Given the description of an element on the screen output the (x, y) to click on. 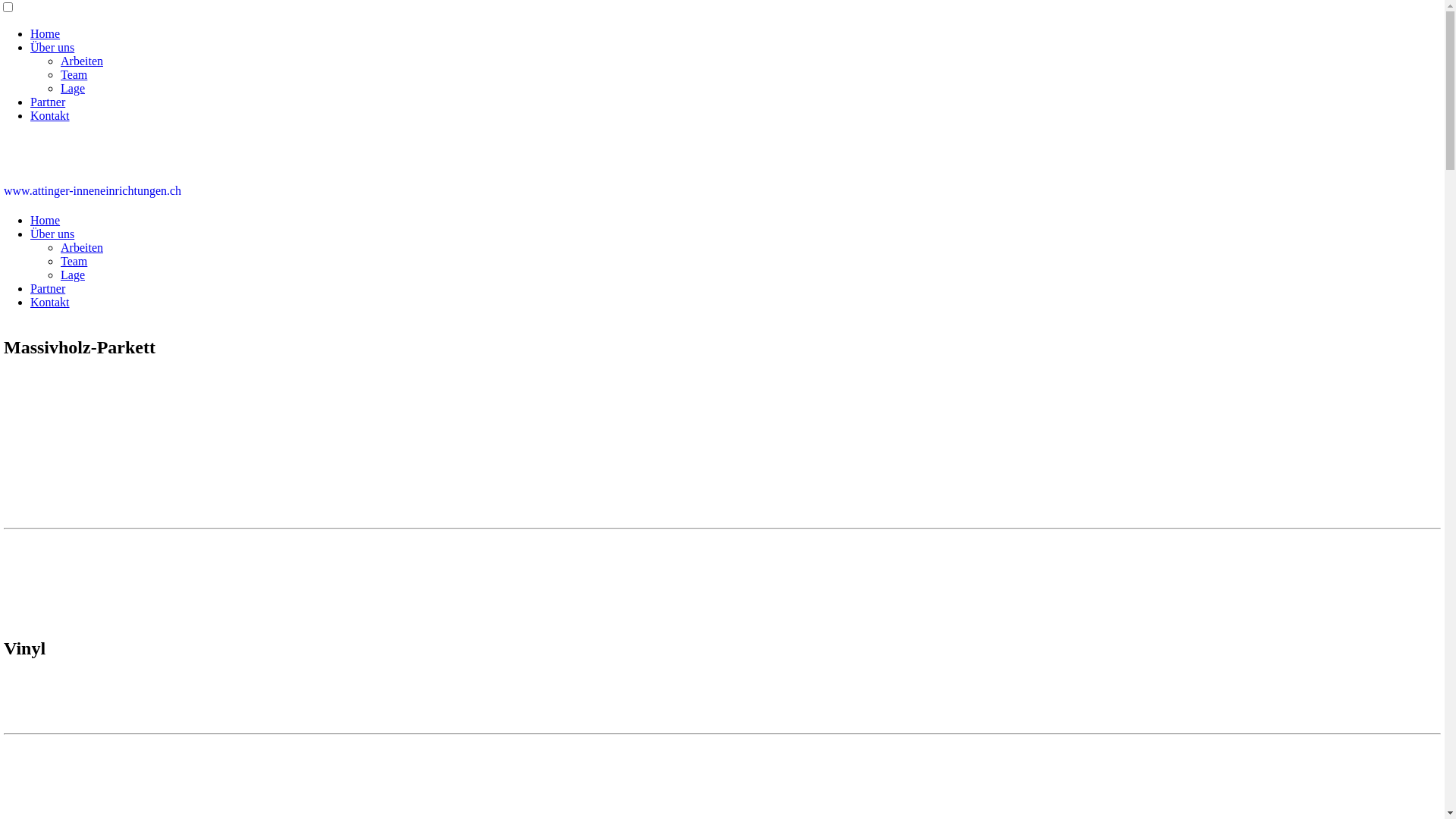
Team Element type: text (73, 74)
www.attinger-inneneinrichtungen.ch Element type: text (92, 190)
Home Element type: text (44, 33)
Kontakt Element type: text (49, 301)
Arbeiten Element type: text (81, 247)
Lage Element type: text (72, 274)
Partner Element type: text (47, 101)
Kontakt Element type: text (49, 115)
Team Element type: text (73, 260)
Lage Element type: text (72, 87)
Partner Element type: text (47, 288)
Arbeiten Element type: text (81, 60)
Home Element type: text (44, 219)
